Given the description of an element on the screen output the (x, y) to click on. 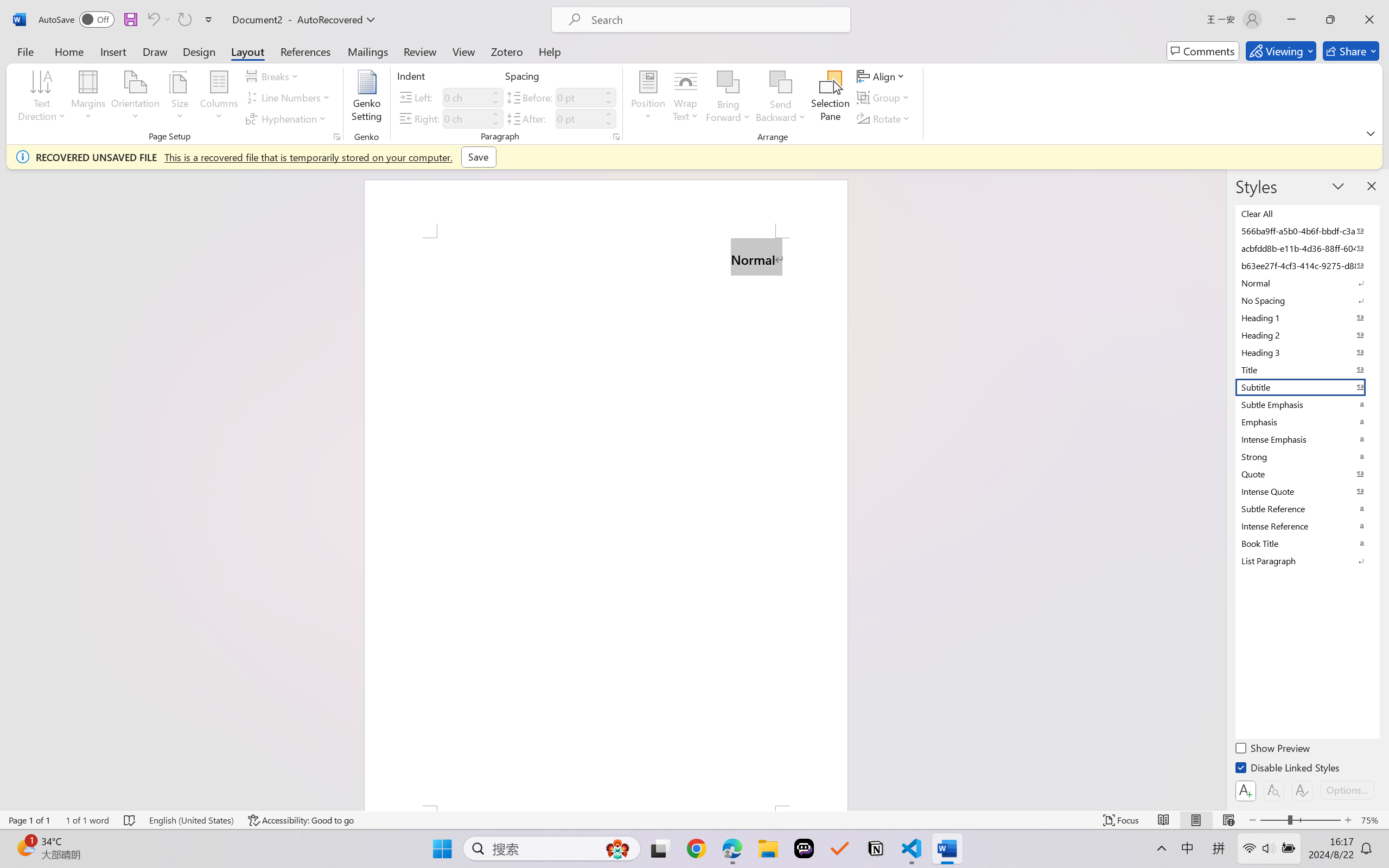
Group (884, 97)
Margins (88, 97)
Clear All (1306, 213)
Size (180, 97)
Page Number Page 1 of 1 (29, 819)
Send Backward (781, 81)
Class: NetUIButton (1301, 790)
Intense Reference (1306, 525)
Genko Setting... (367, 97)
Show Preview (1273, 749)
Mode (1280, 50)
Can't Undo (152, 19)
